Given the description of an element on the screen output the (x, y) to click on. 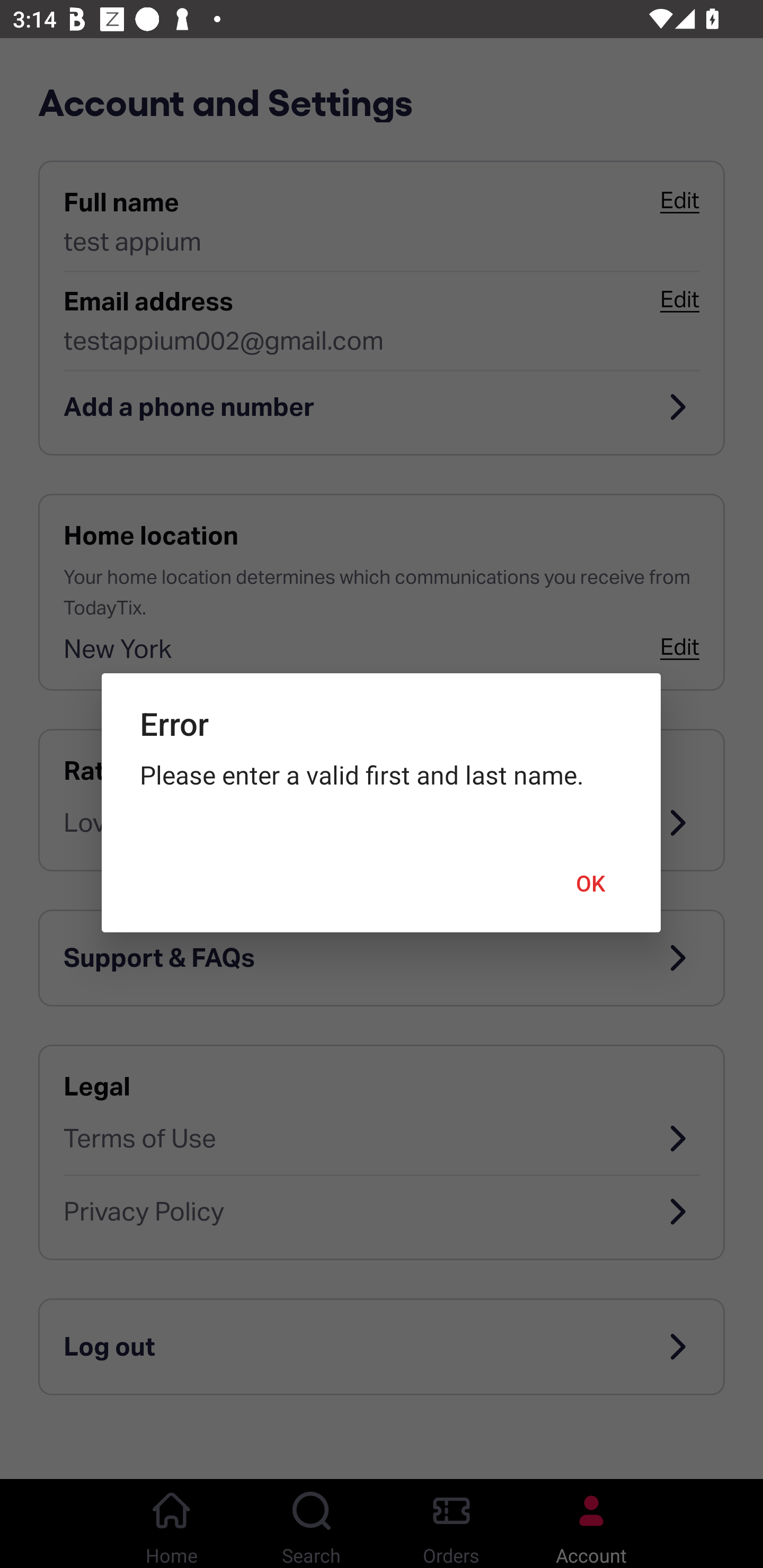
OK (590, 883)
